Given the description of an element on the screen output the (x, y) to click on. 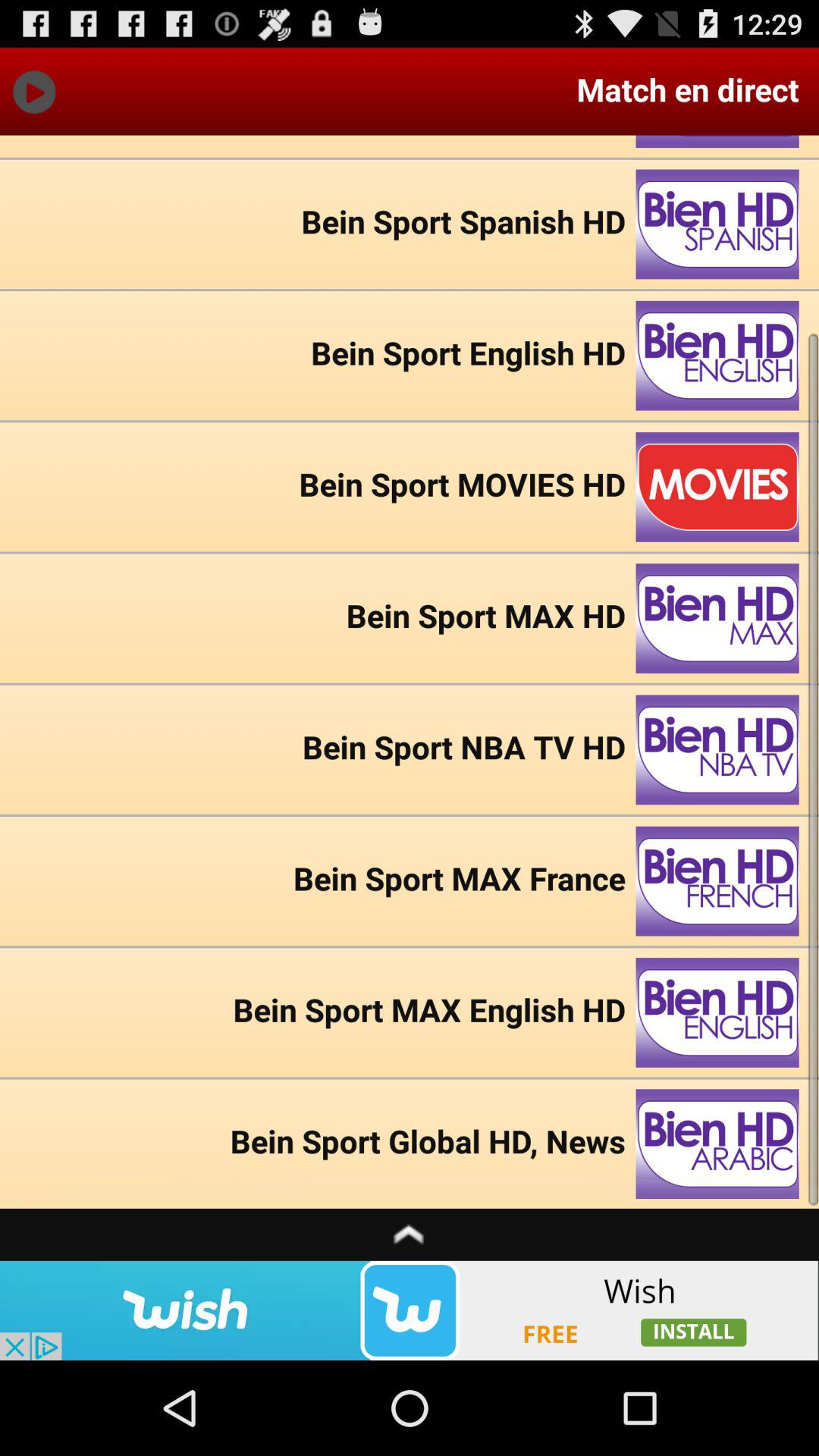
go forward (33, 91)
